Given the description of an element on the screen output the (x, y) to click on. 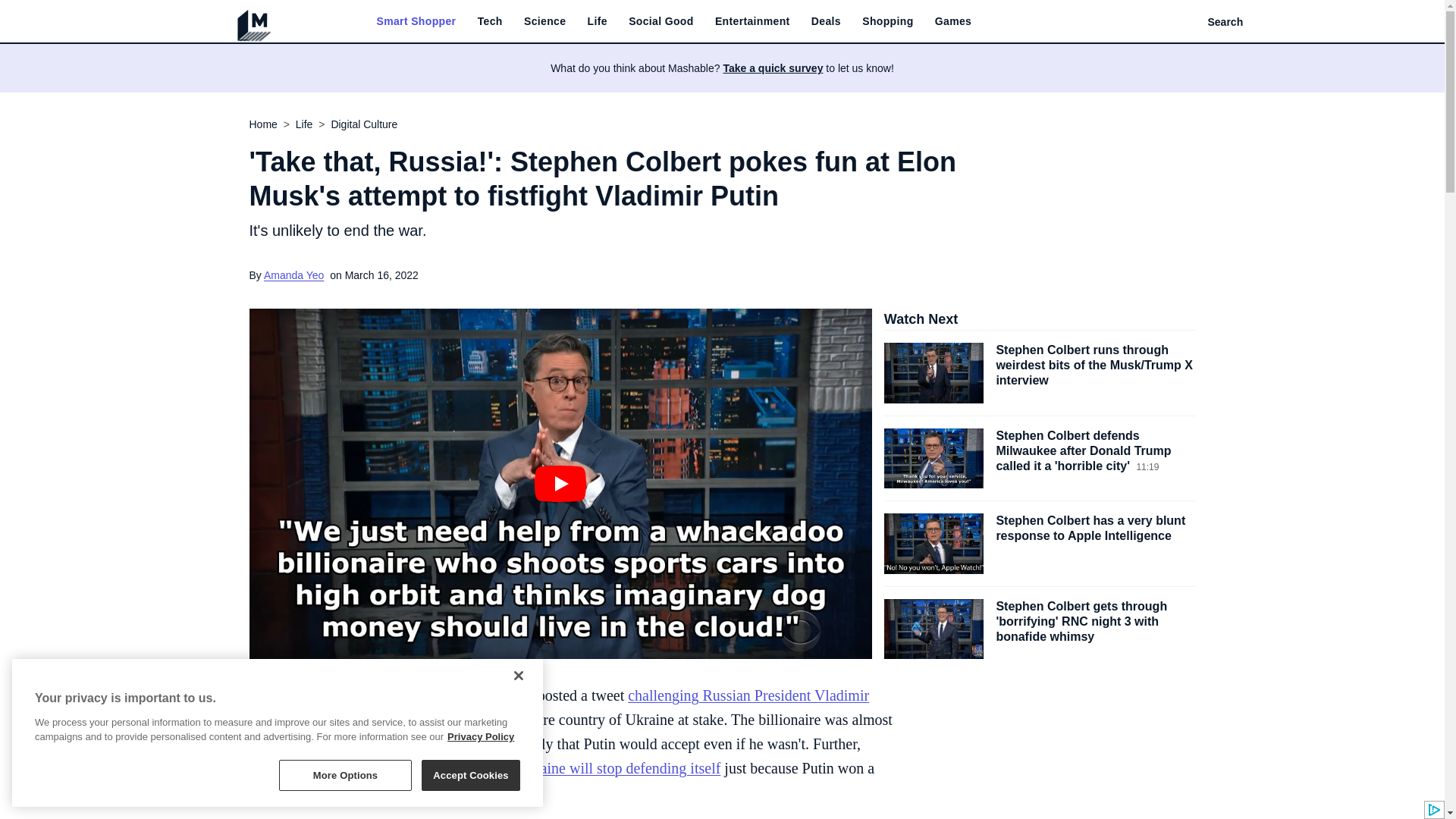
Life (597, 21)
Deals (825, 21)
Games (952, 21)
Social Good (661, 21)
Play (560, 484)
Tech (489, 21)
Entertainment (752, 21)
Smart Shopper (415, 21)
Science (545, 21)
Shopping (886, 21)
